Given the description of an element on the screen output the (x, y) to click on. 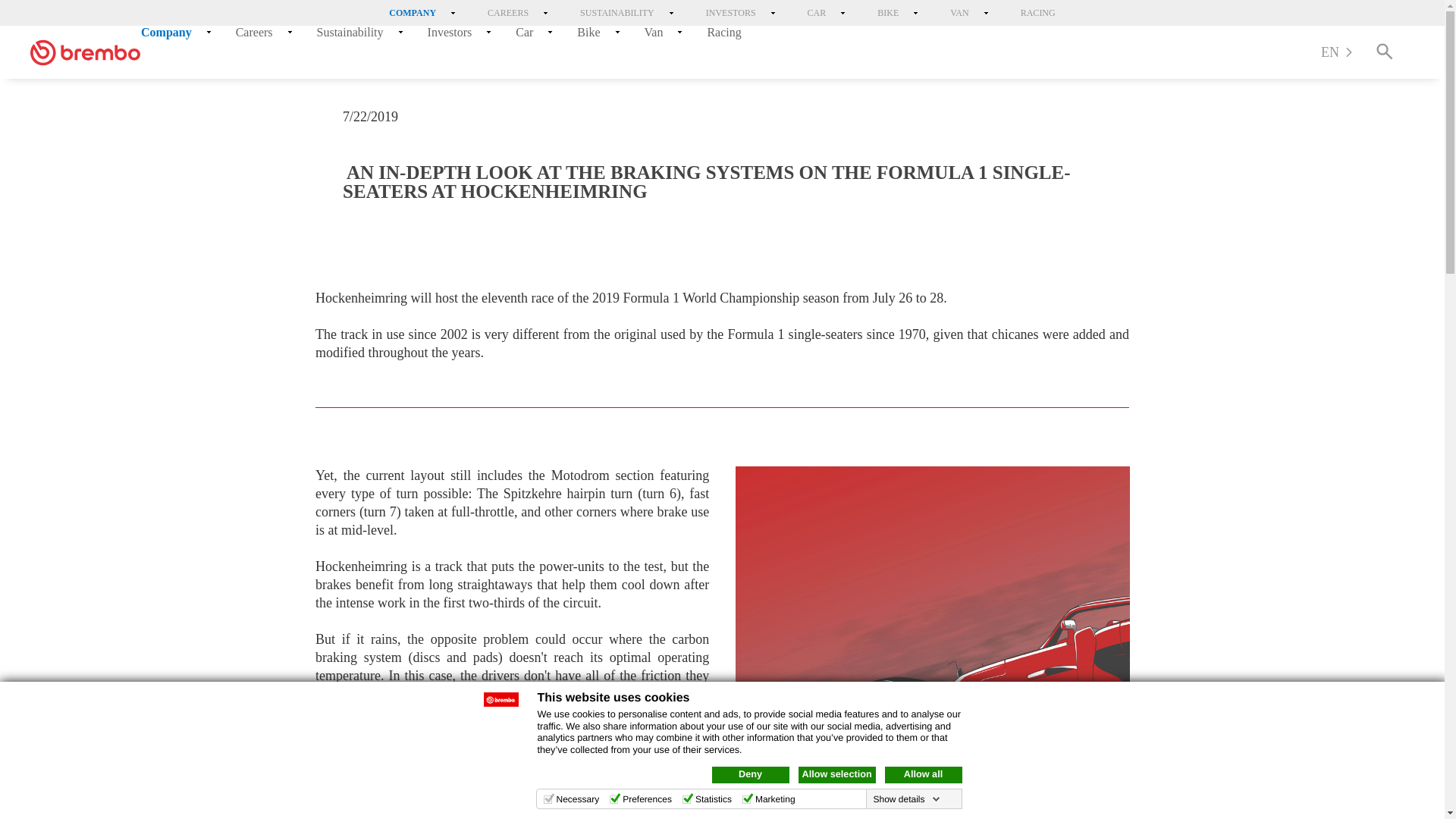
Allow all (921, 774)
Show details (905, 799)
Allow selection (836, 774)
Deny (750, 774)
